Given the description of an element on the screen output the (x, y) to click on. 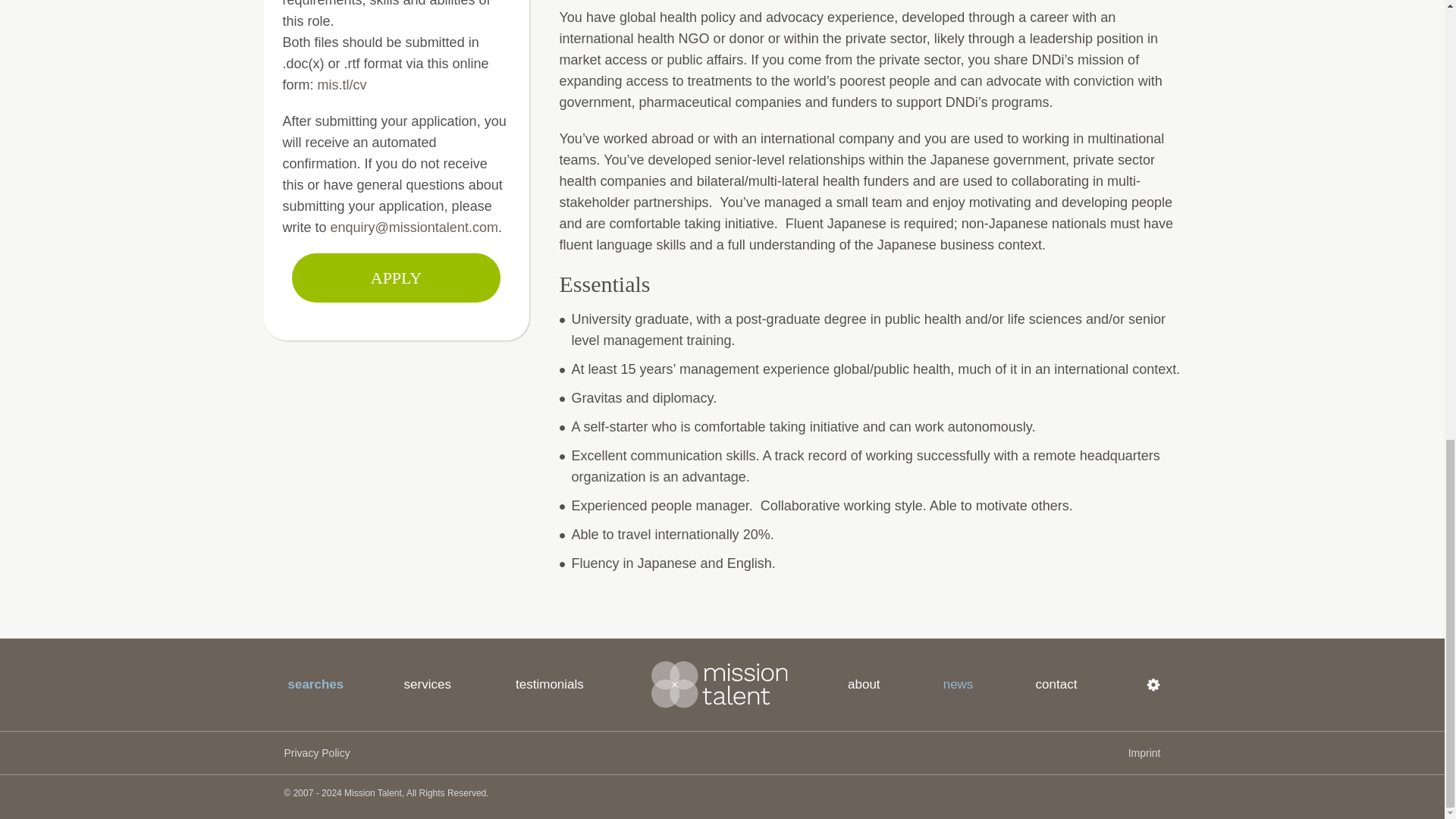
APPLY (396, 277)
